Given the description of an element on the screen output the (x, y) to click on. 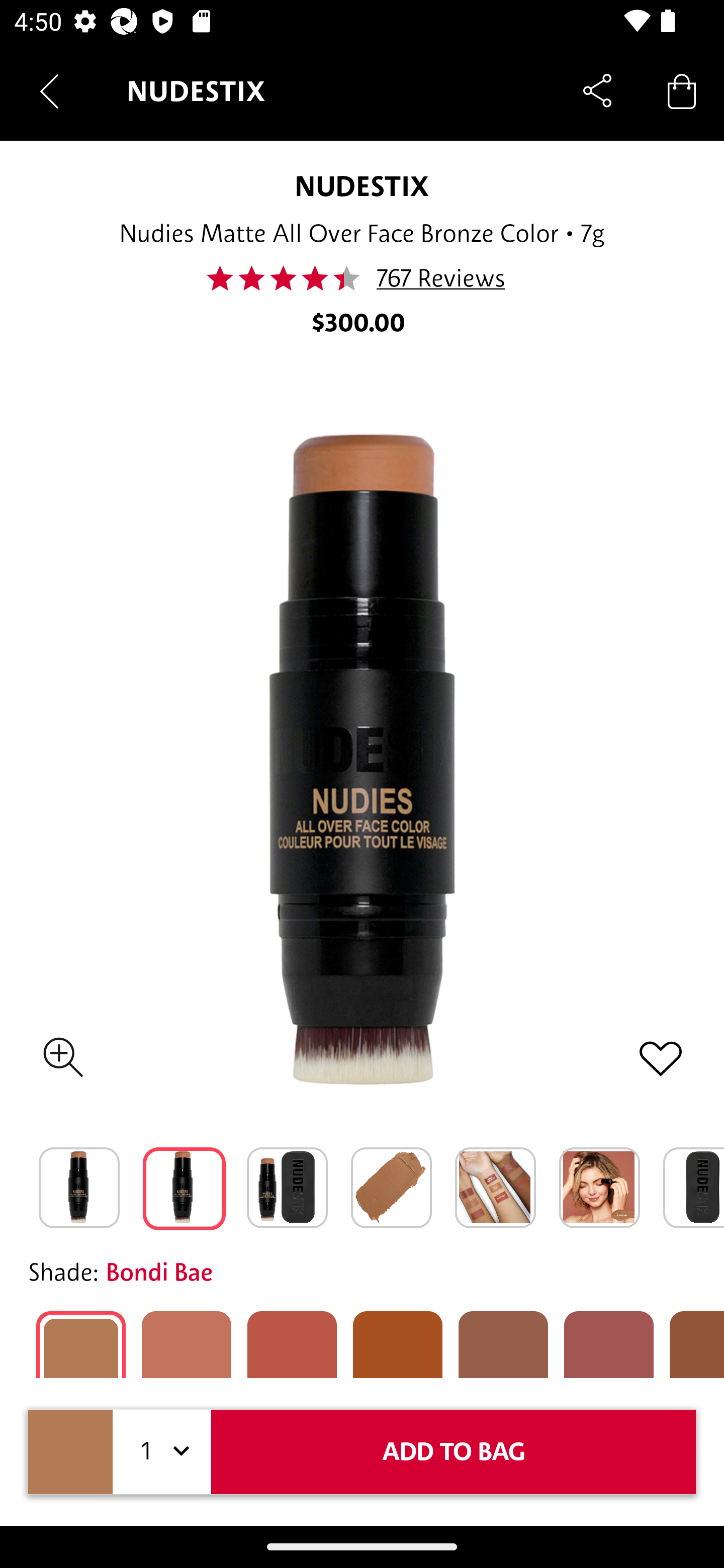
Navigate up (49, 91)
Share (597, 90)
Bag (681, 90)
NUDESTIX (361, 186)
44.0 767 Reviews (361, 278)
1 (161, 1451)
ADD TO BAG (453, 1451)
